Given the description of an element on the screen output the (x, y) to click on. 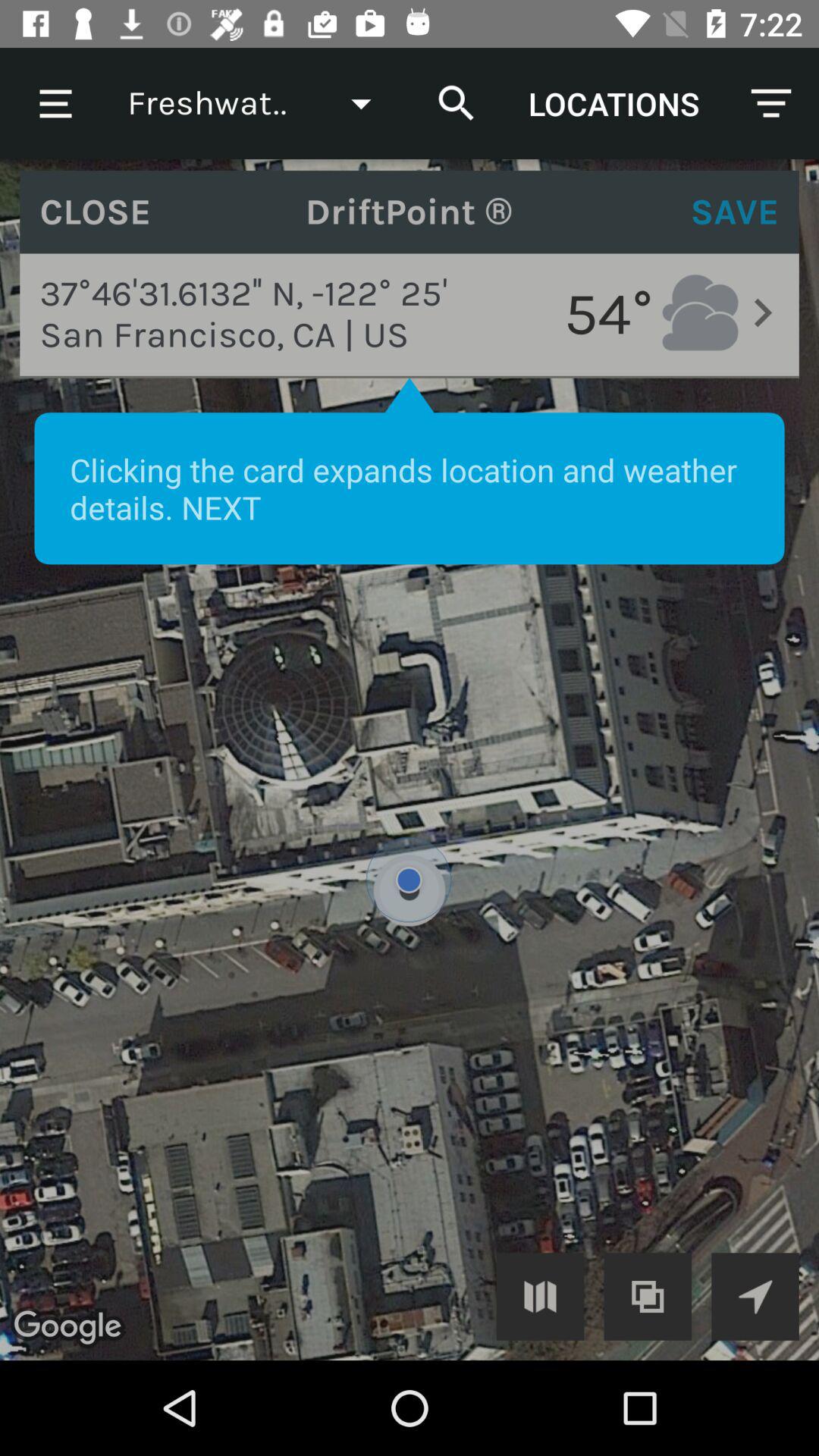
expand image (409, 759)
